Given the description of an element on the screen output the (x, y) to click on. 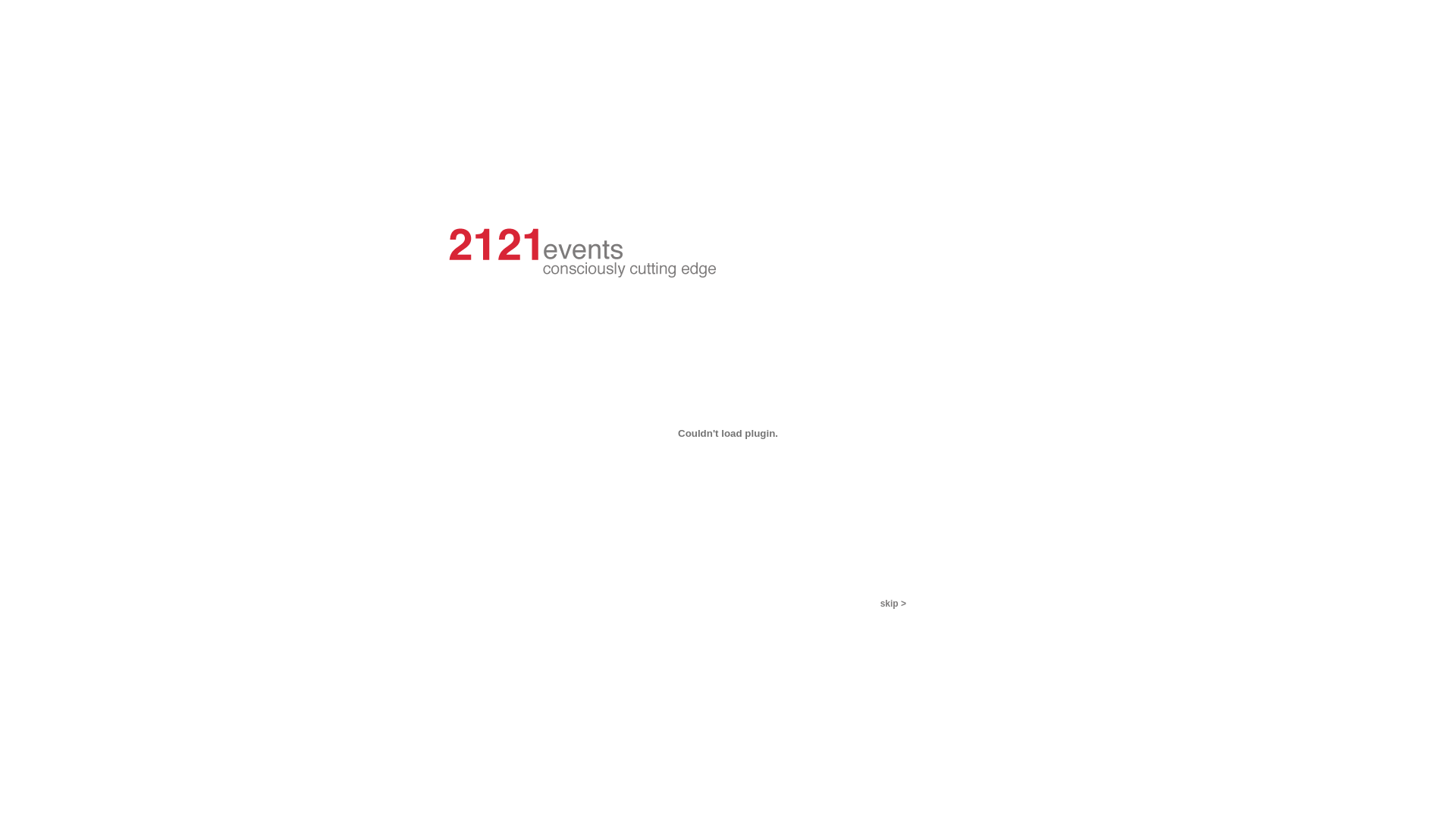
skip > Element type: text (893, 603)
